Given the description of an element on the screen output the (x, y) to click on. 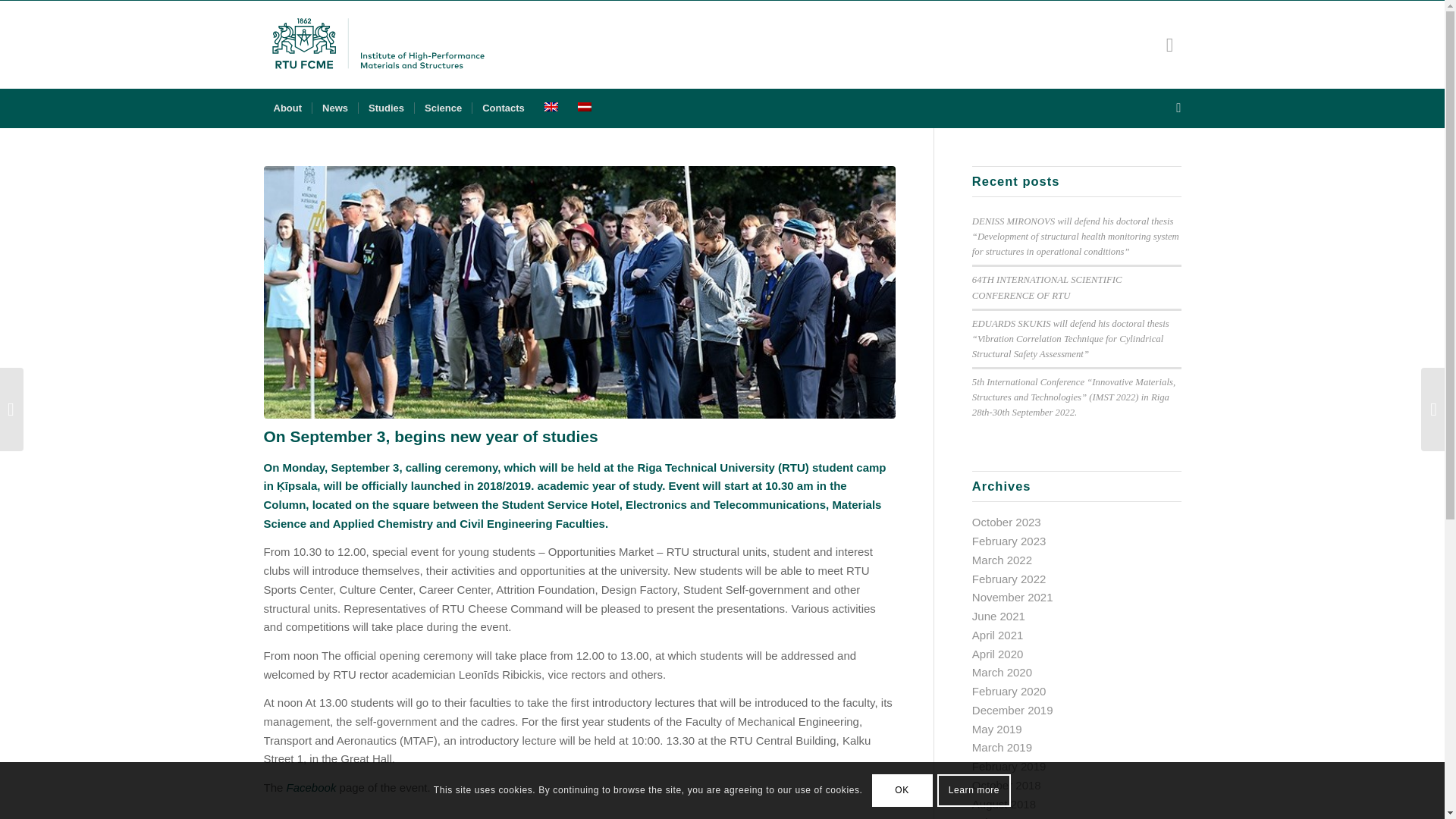
About (288, 108)
English (550, 106)
News (334, 108)
Science (442, 108)
Contacts (502, 108)
Youtube (1169, 44)
Studies (385, 108)
